Given the description of an element on the screen output the (x, y) to click on. 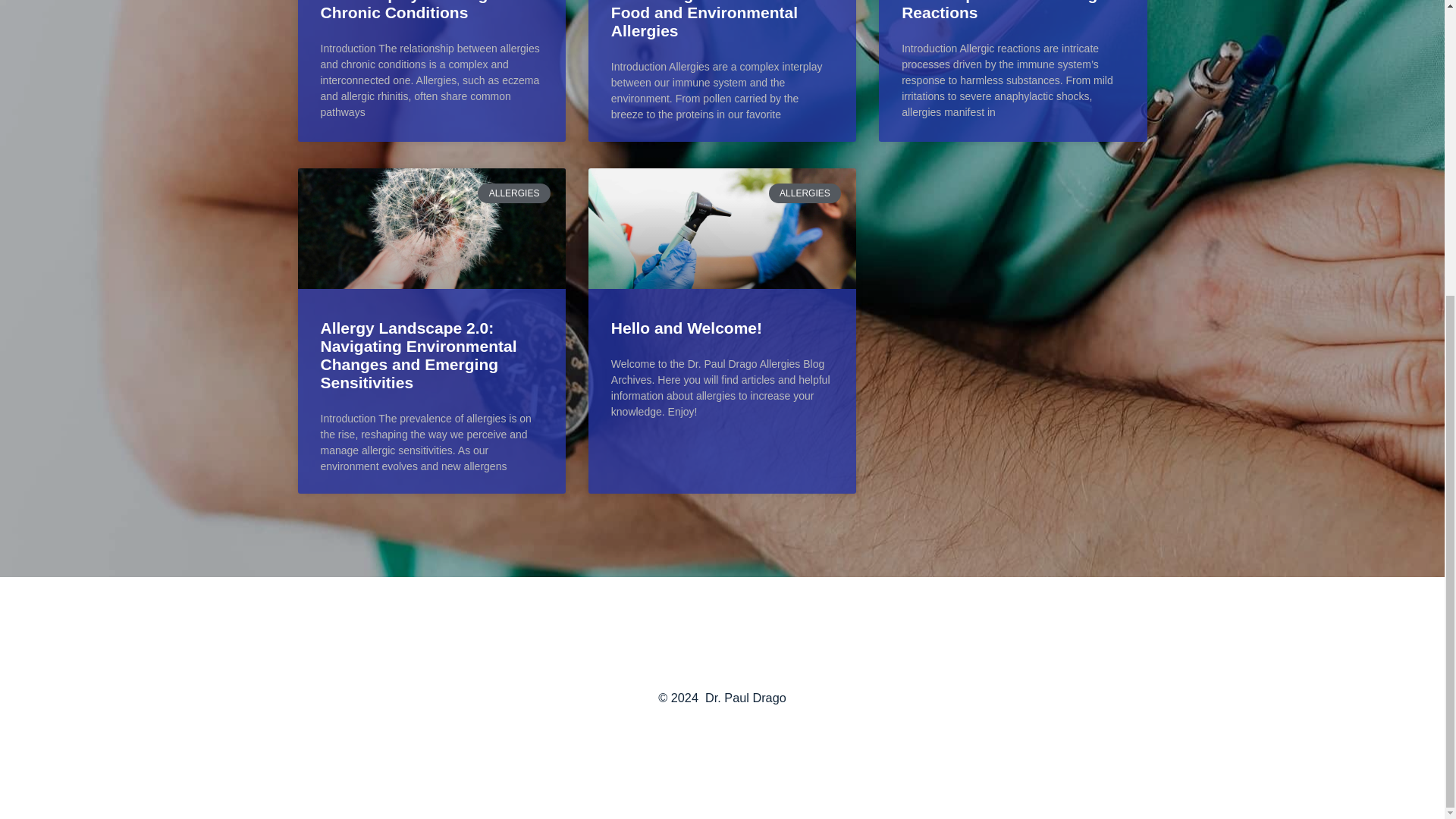
Hello and Welcome! (686, 327)
